Given the description of an element on the screen output the (x, y) to click on. 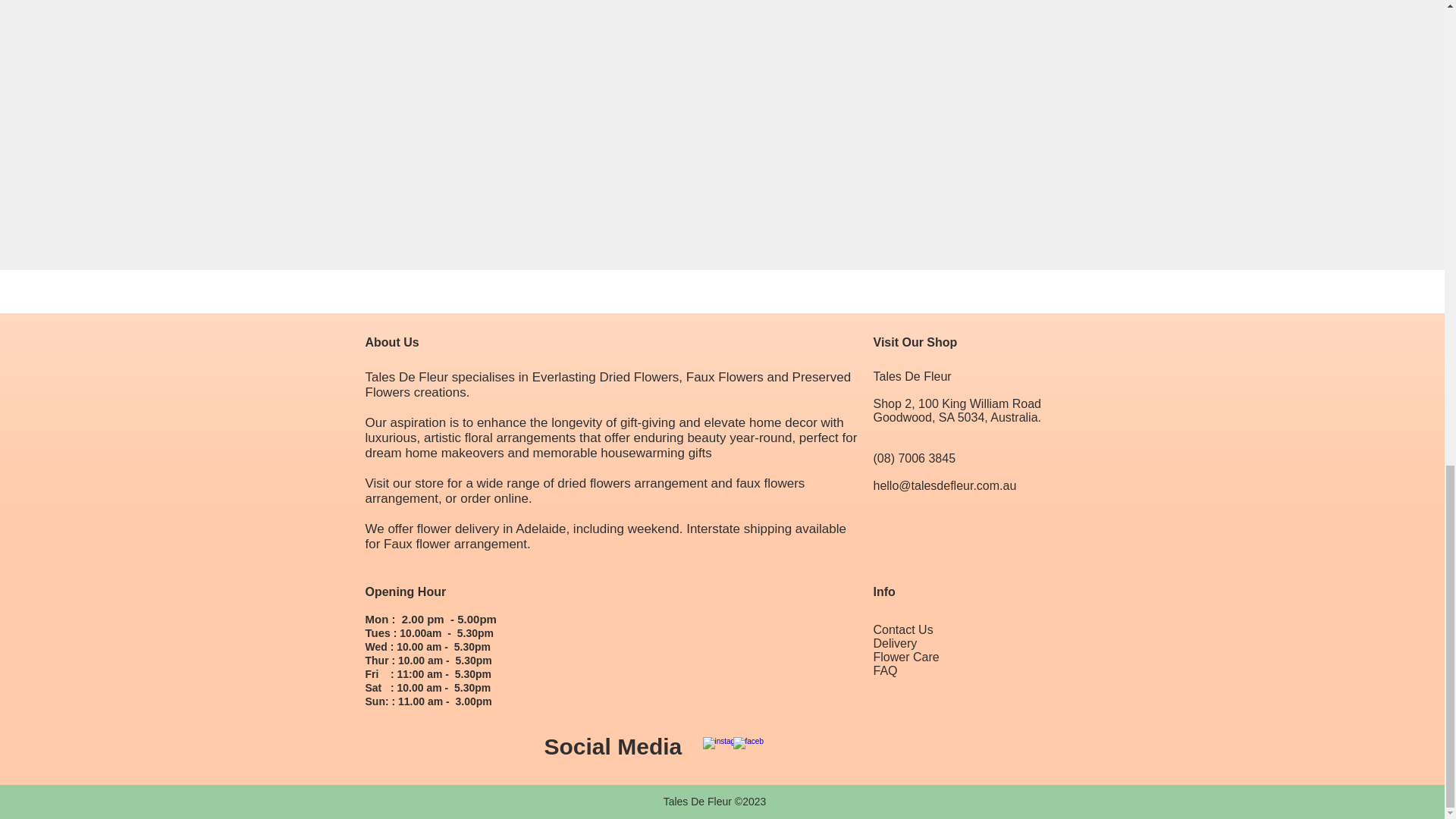
Delivery (895, 643)
Flower Care (906, 656)
Contact Us (903, 629)
